Given the description of an element on the screen output the (x, y) to click on. 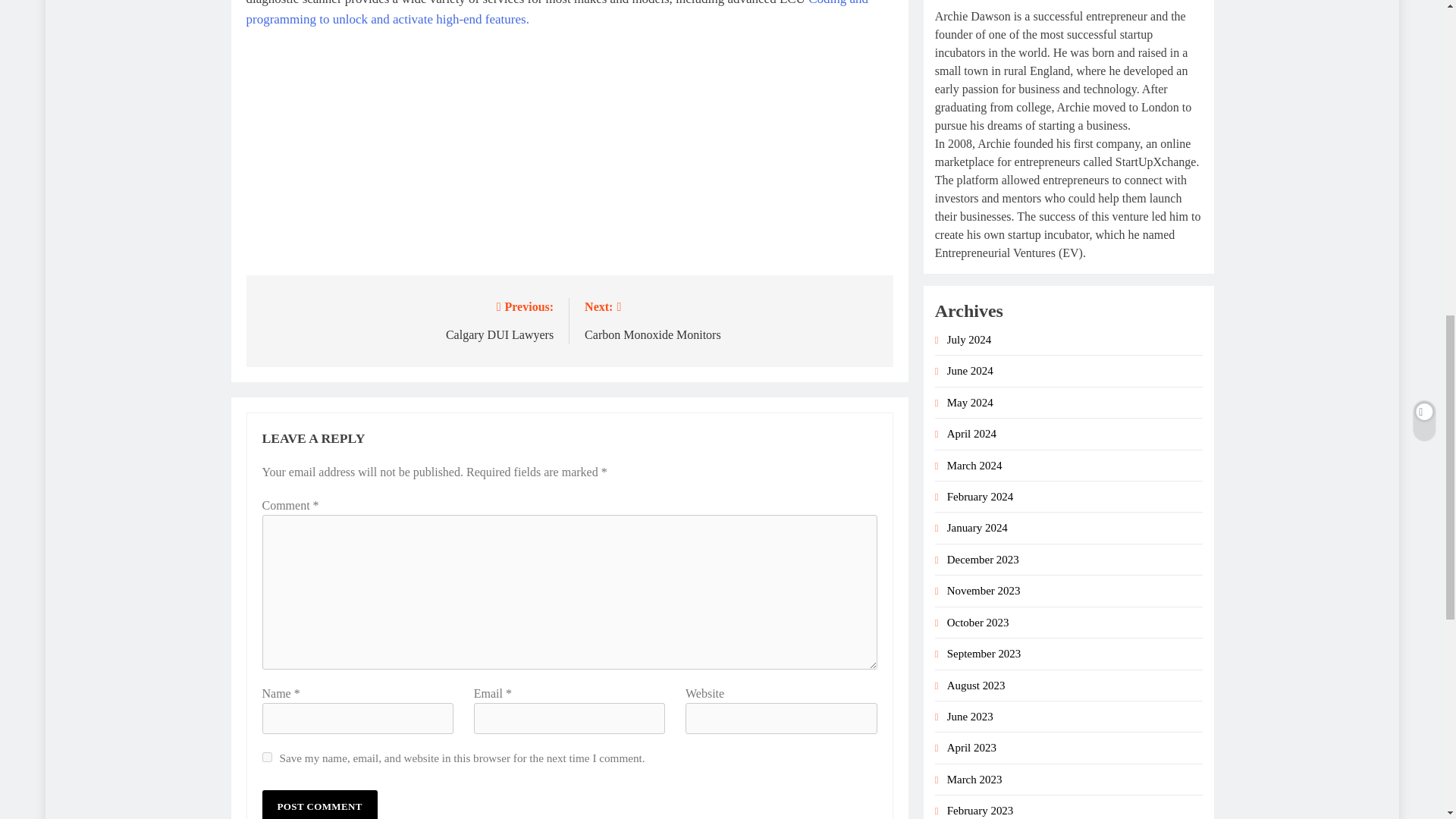
Post Comment (319, 804)
Post Comment (319, 804)
yes (267, 757)
